Given the description of an element on the screen output the (x, y) to click on. 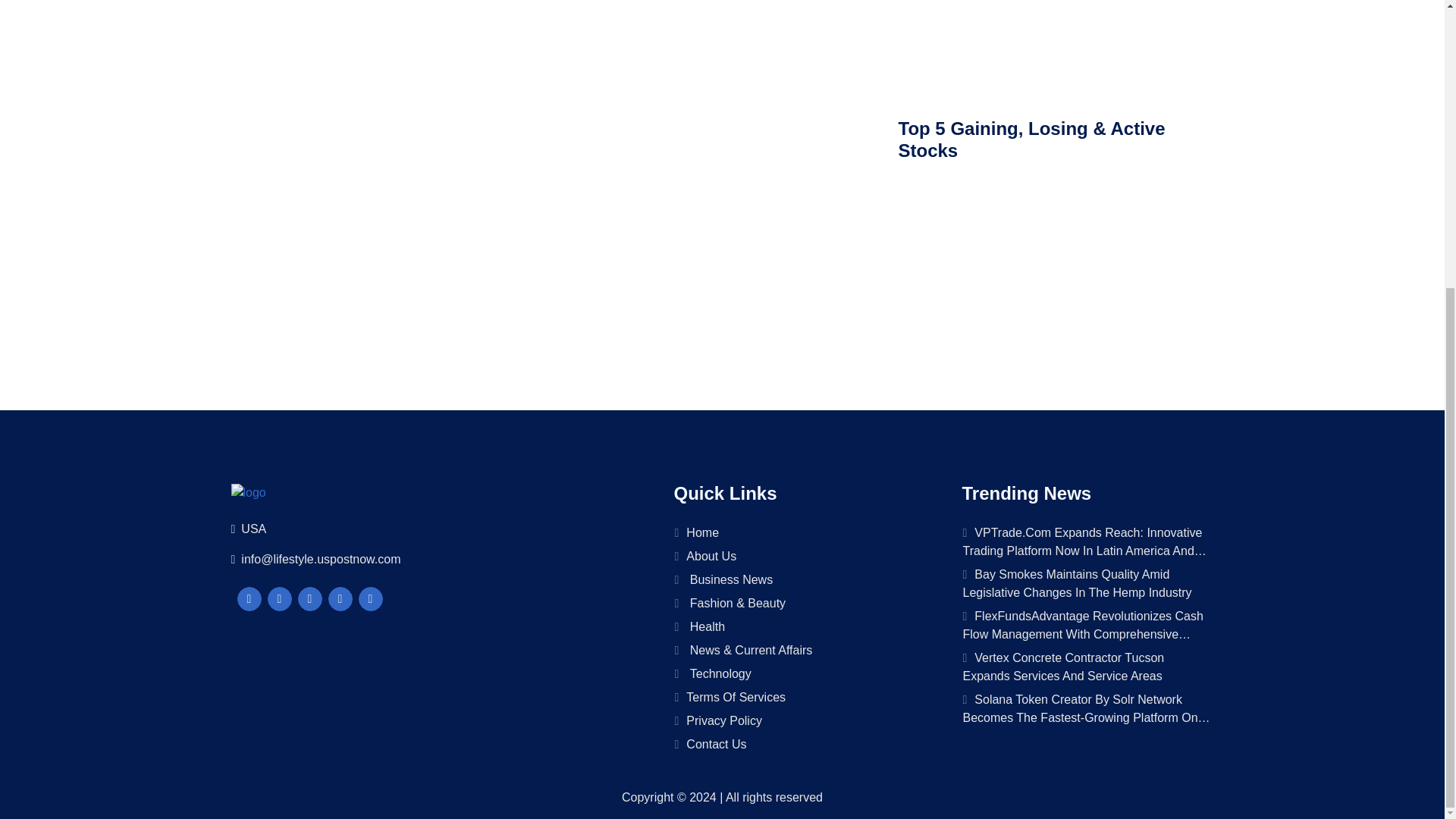
Privacy Policy (798, 721)
Health (798, 627)
About Us (798, 556)
Contact Us (798, 744)
Terms Of Services (798, 697)
Technology (798, 673)
Home (798, 532)
Business News (798, 579)
